Given the description of an element on the screen output the (x, y) to click on. 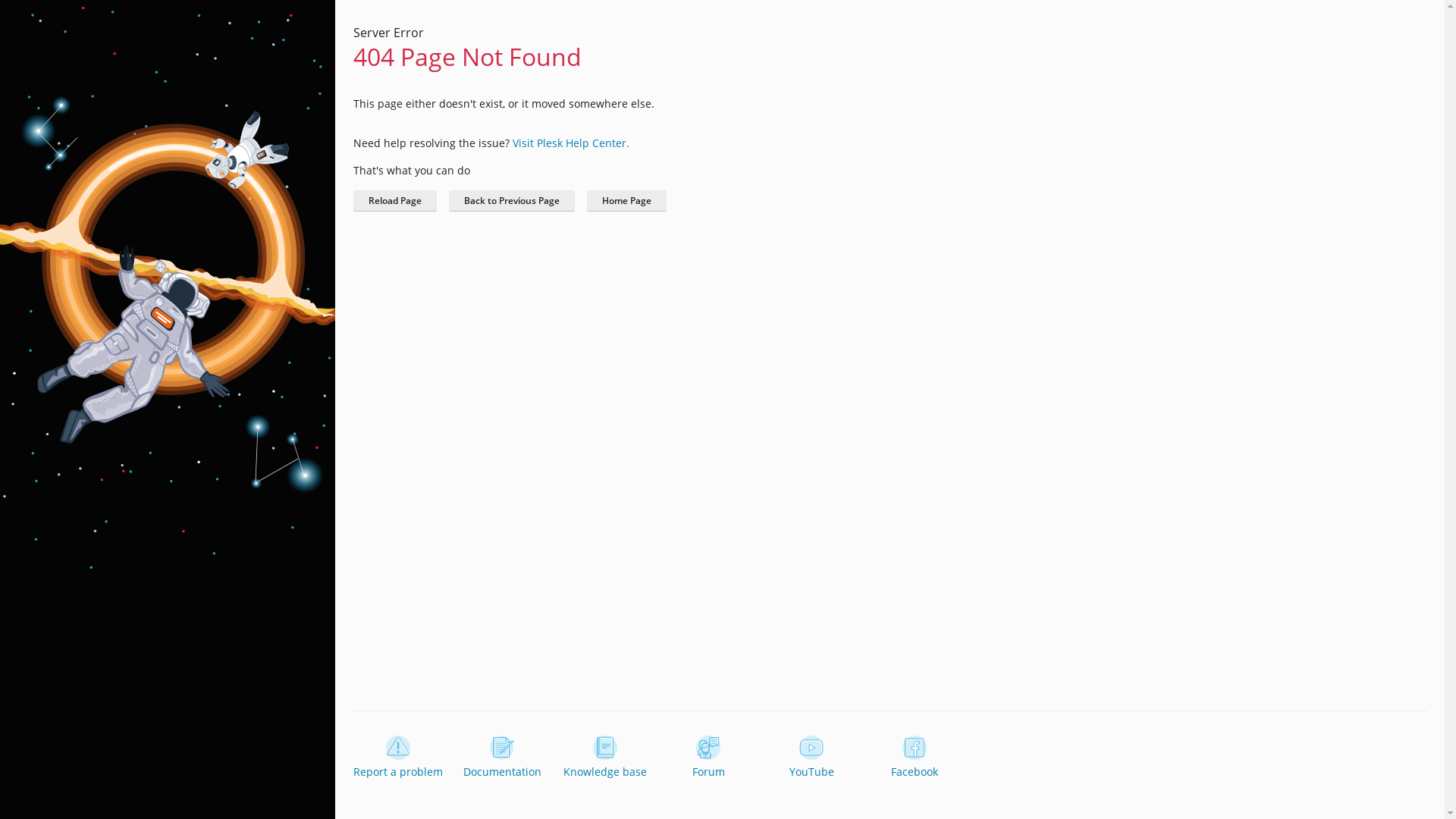
Back to Previous Page Element type: text (511, 200)
Visit Plesk Help Center. Element type: text (570, 142)
Reload Page Element type: text (394, 200)
Forum Element type: text (708, 757)
Report a problem Element type: text (397, 757)
Home Page Element type: text (626, 200)
Documentation Element type: text (502, 757)
YouTube Element type: text (811, 757)
Knowledge base Element type: text (605, 757)
Facebook Element type: text (914, 757)
